Given the description of an element on the screen output the (x, y) to click on. 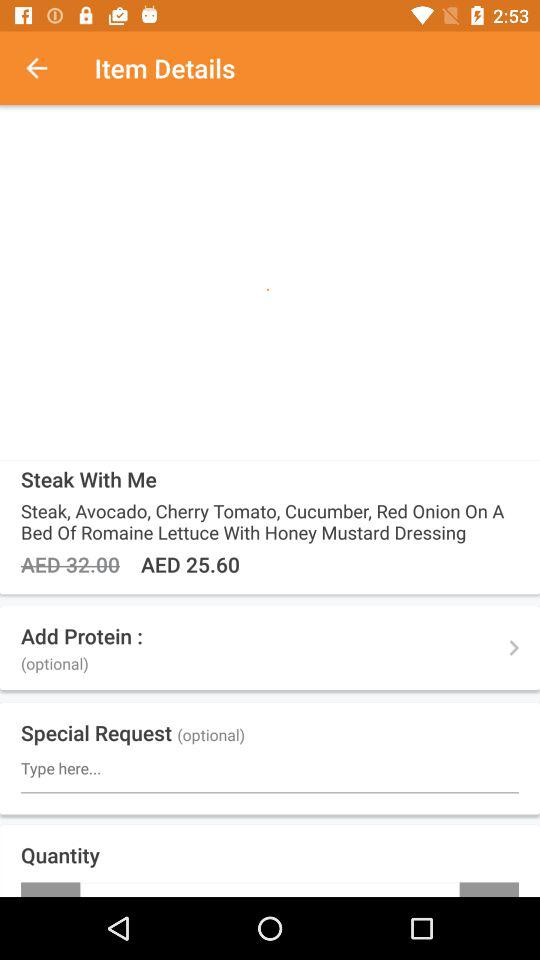
tap the + icon (489, 889)
